Given the description of an element on the screen output the (x, y) to click on. 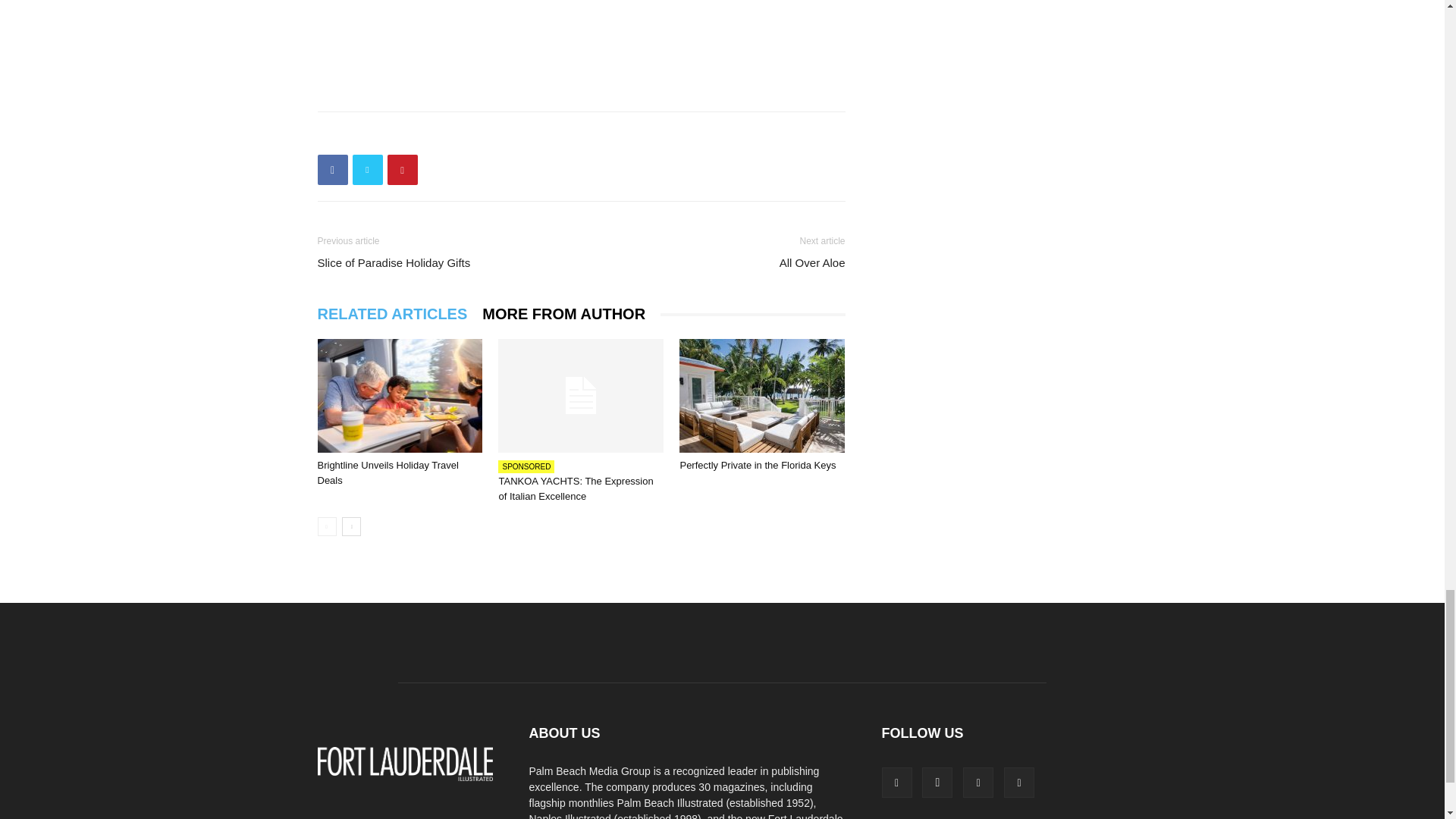
Perfectly Private in the Florida Keys (761, 395)
TANKOA YACHTS: The Expression of Italian Excellence (574, 488)
Perfectly Private in the Florida Keys (757, 464)
Brightline Unveils Holiday Travel Deals (387, 472)
Brightline Unveils Holiday Travel Deals (399, 395)
TANKOA YACHTS: The Expression of Italian Excellence (580, 395)
